Given the description of an element on the screen output the (x, y) to click on. 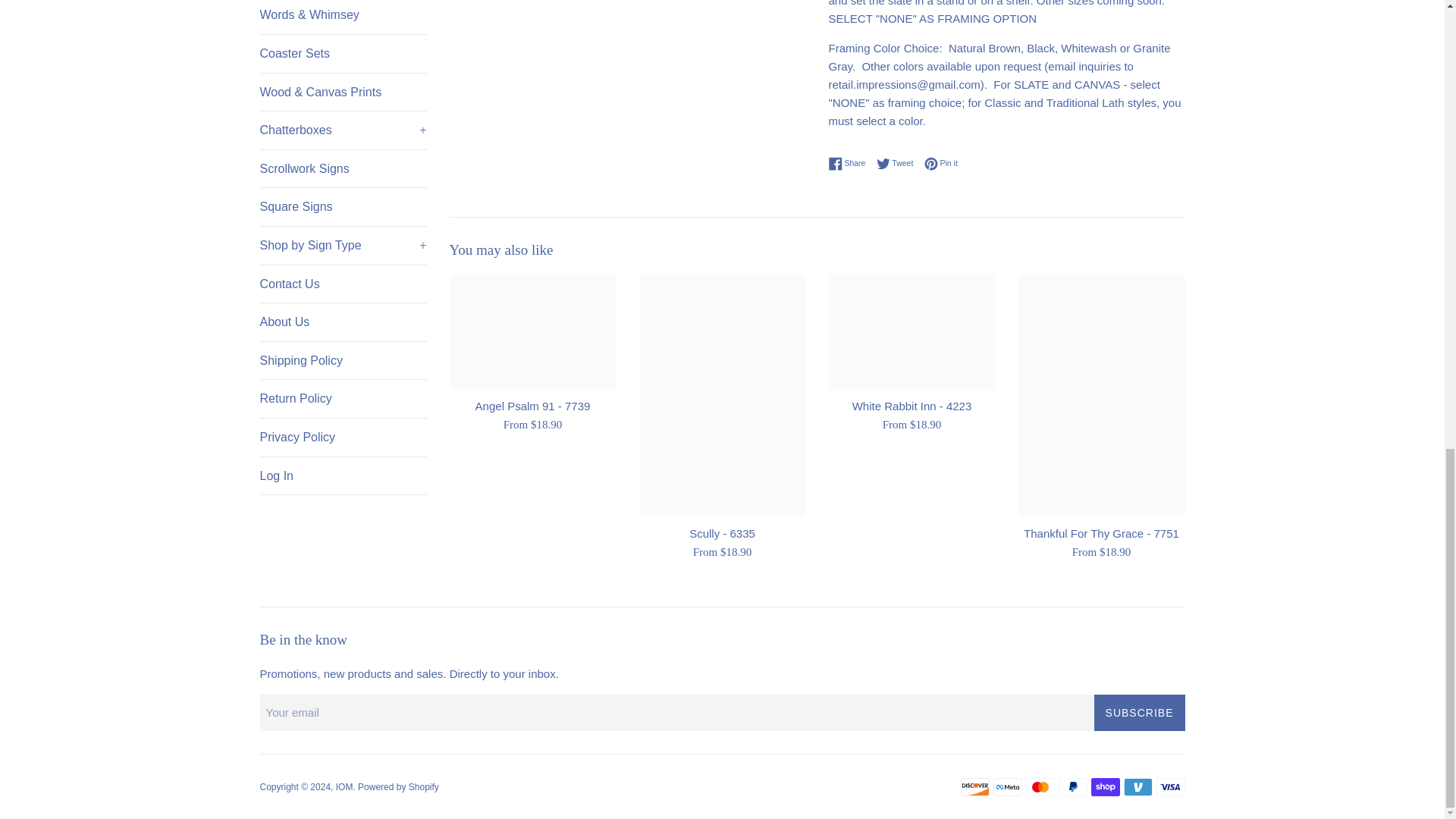
Angel Psalm 91 - 7739 (531, 331)
Shop Pay (1104, 787)
Meta Pay (1007, 787)
Coaster Sets (342, 53)
Visa (1170, 787)
Pin on Pinterest (941, 163)
Share on Facebook (850, 163)
Mastercard (1039, 787)
White Rabbit Inn - 4223 (911, 331)
Venmo (1138, 787)
PayPal (1072, 787)
Discover (973, 787)
Tweet on Twitter (898, 163)
